Given the description of an element on the screen output the (x, y) to click on. 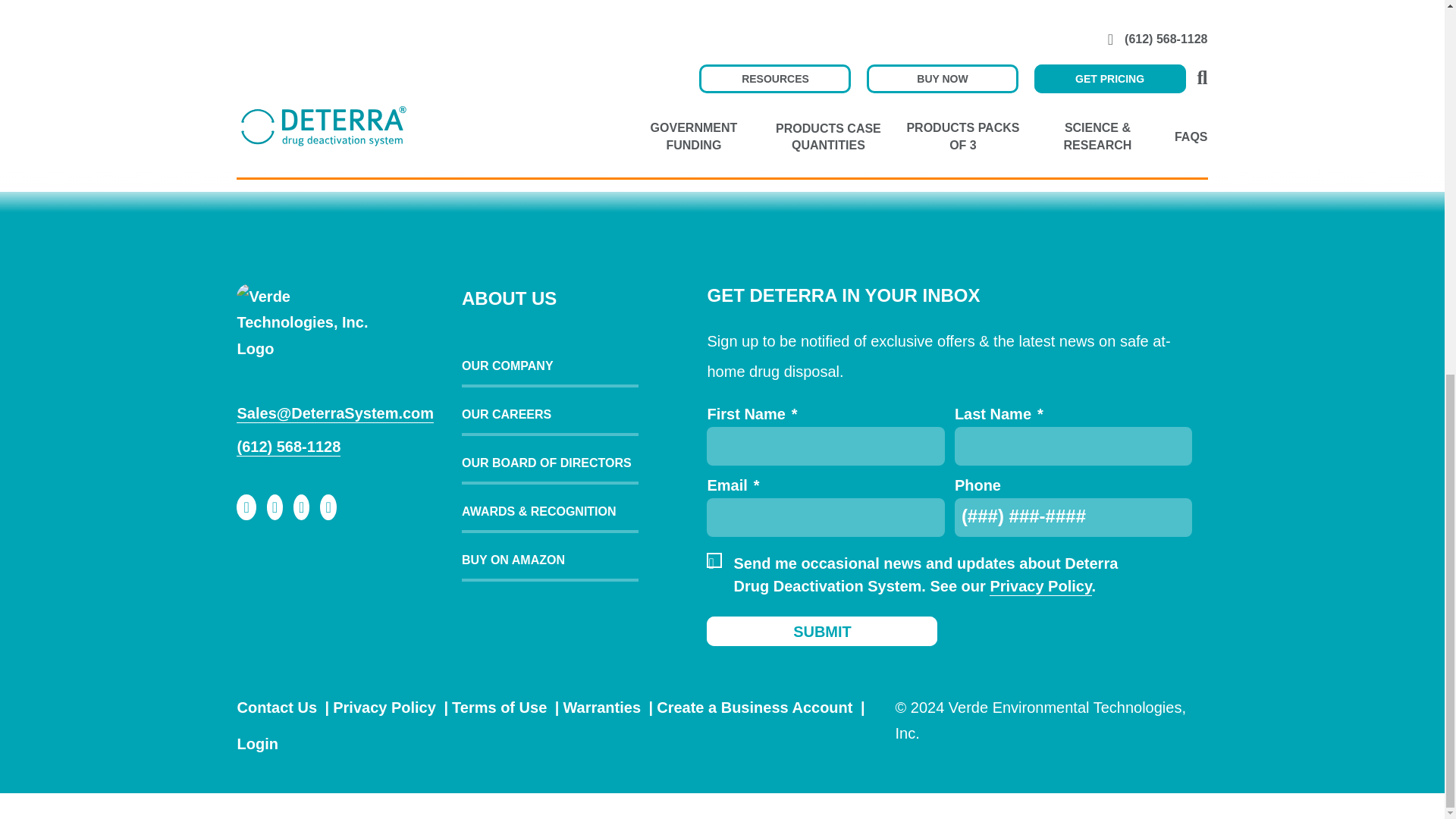
pollute our lakes (806, 27)
Submit (821, 631)
Privacy Policy (1040, 587)
climate change (639, 5)
KEEP READING (311, 97)
twice as likely to die (1064, 5)
